Given the description of an element on the screen output the (x, y) to click on. 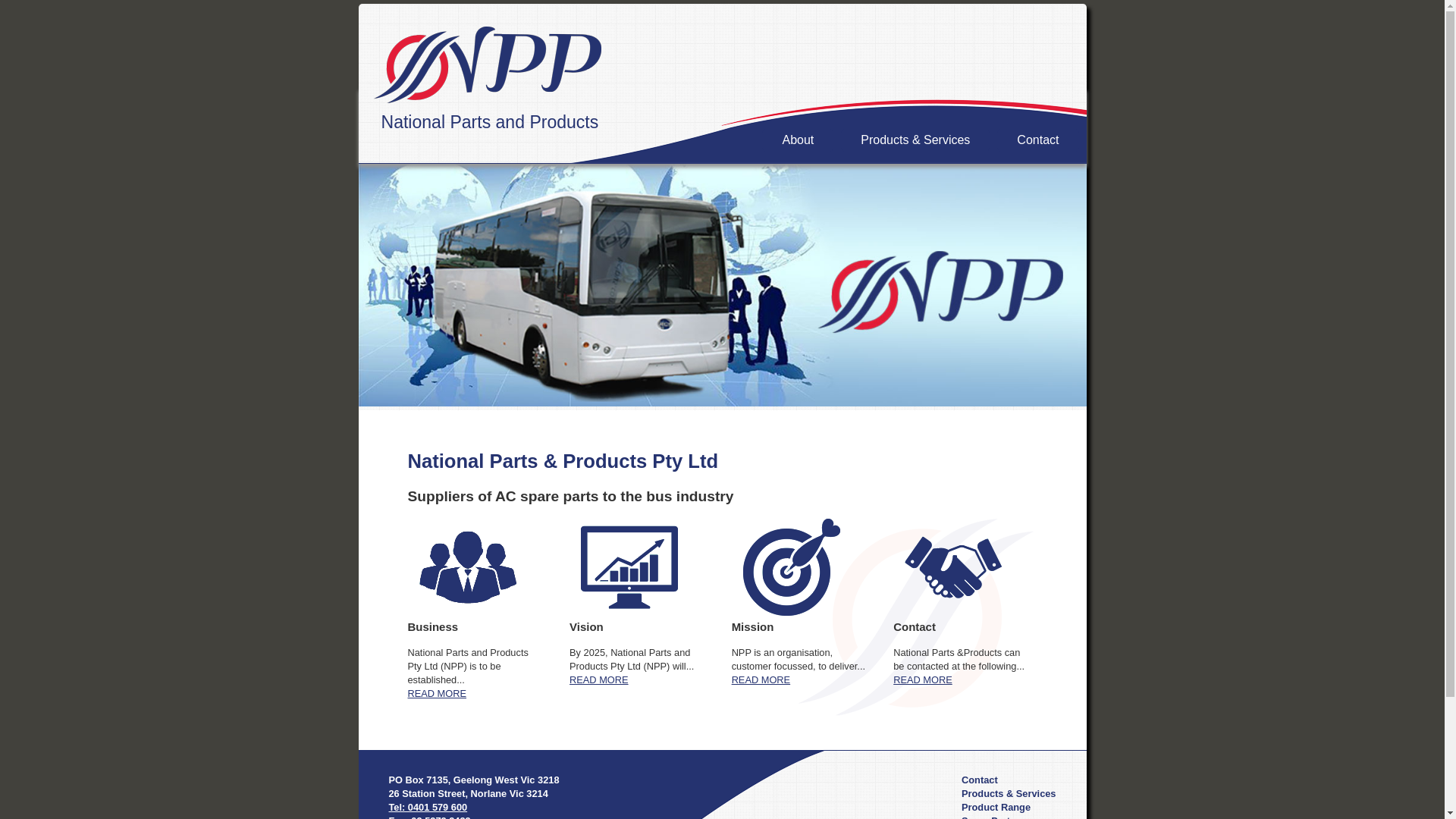
Products & Services Element type: text (914, 139)
About Element type: text (797, 139)
Contact Element type: text (1037, 139)
Products & Services Element type: text (1008, 793)
READ MORE Element type: text (437, 693)
Product Range Element type: text (995, 806)
READ MORE Element type: text (760, 679)
Tel: 0401 579 600 Element type: text (427, 806)
Contact Element type: text (979, 779)
READ MORE Element type: text (598, 679)
READ MORE Element type: text (922, 679)
